Given the description of an element on the screen output the (x, y) to click on. 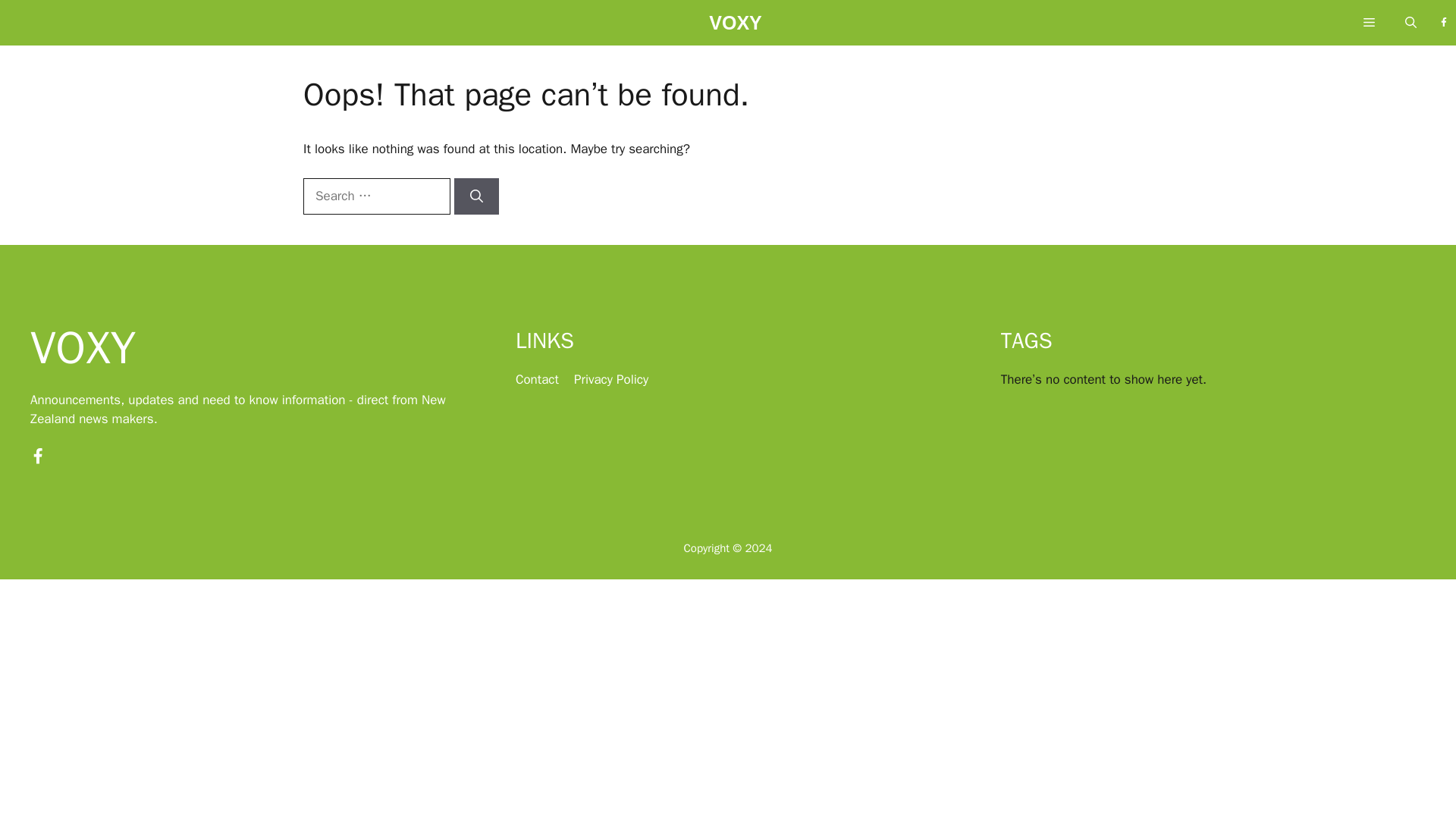
Contact (537, 379)
VOXY (735, 26)
Privacy Policy (610, 379)
Search for: (375, 196)
